Given the description of an element on the screen output the (x, y) to click on. 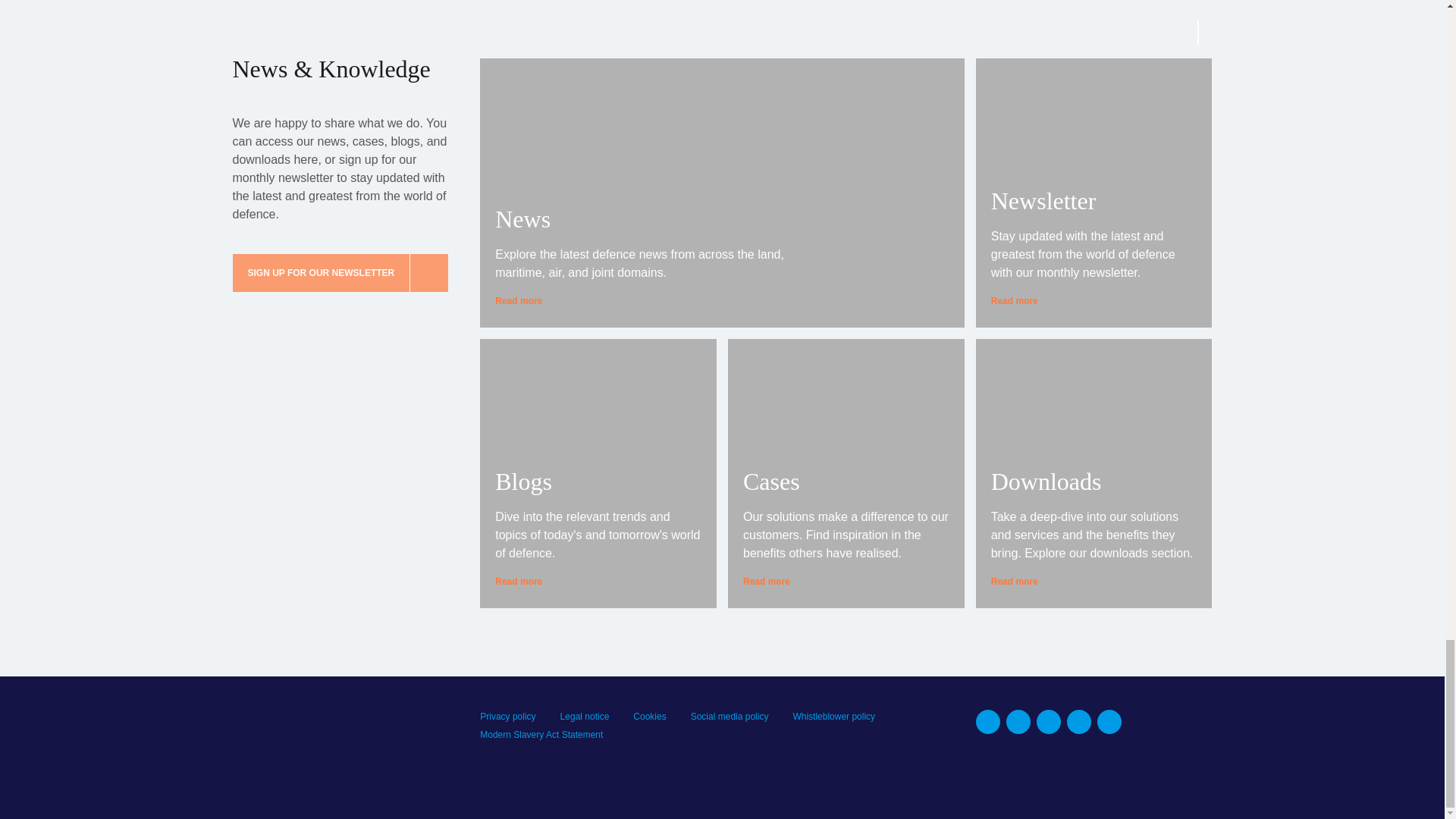
SIGN UP FOR OUR NEWSLETTER (344, 272)
Cookies (649, 716)
Youtube (1078, 721)
Twitter (1048, 721)
Whistleblower policy (833, 716)
Social media policy (729, 716)
Linkedin (987, 721)
Instagram (1109, 721)
Facebook (1018, 721)
Privacy policy (507, 716)
Legal notice (585, 716)
SIGN UP FOR OUR NEWSLETTER (339, 272)
Modern Slavery Act Statement (541, 734)
